Given the description of an element on the screen output the (x, y) to click on. 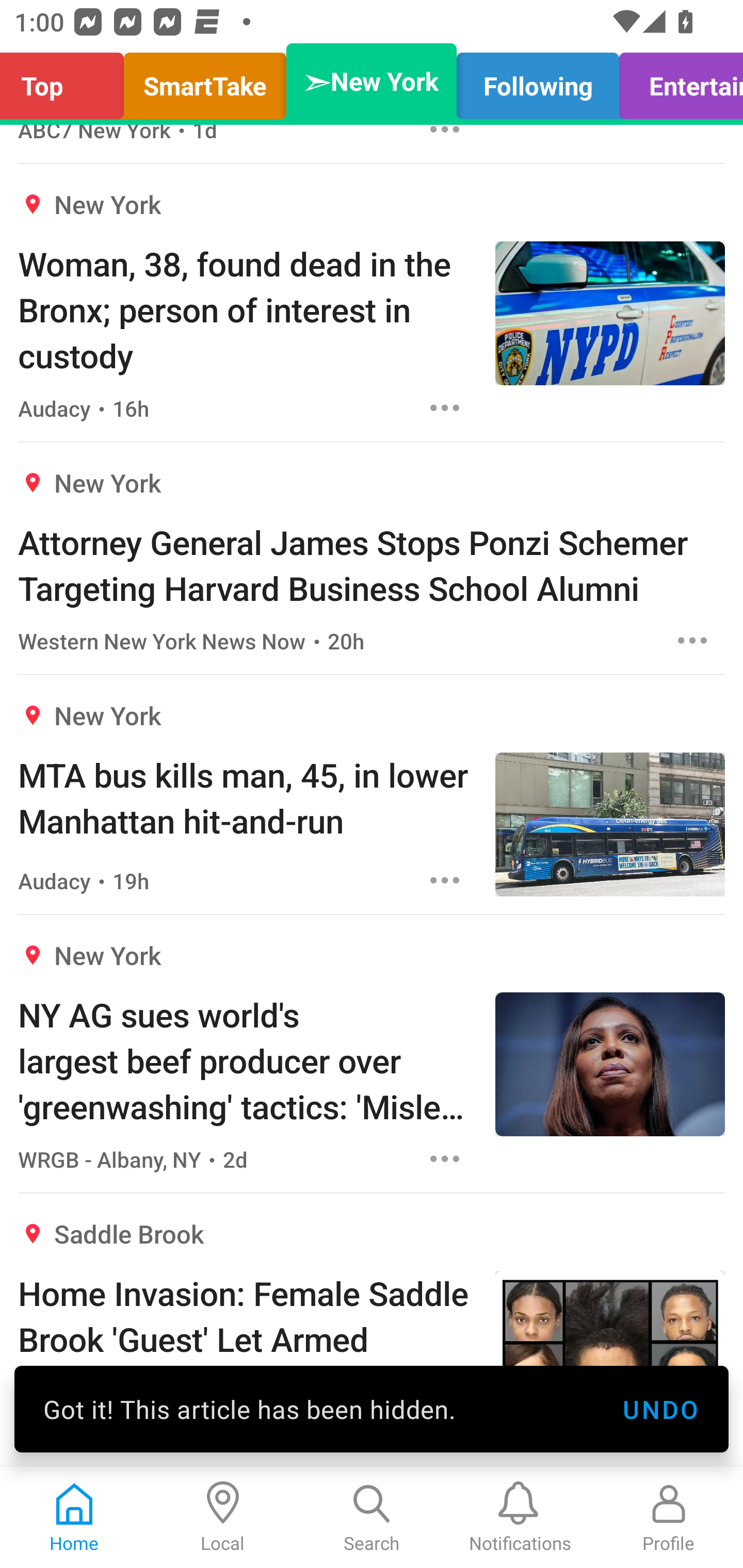
Top (67, 81)
SmartTake (204, 81)
➣New York (371, 81)
Following (537, 81)
Options (444, 407)
Options (692, 640)
Options (444, 880)
Options (444, 1158)
UNDO (660, 1408)
Local (222, 1517)
Search (371, 1517)
Notifications (519, 1517)
Profile (668, 1517)
